Given the description of an element on the screen output the (x, y) to click on. 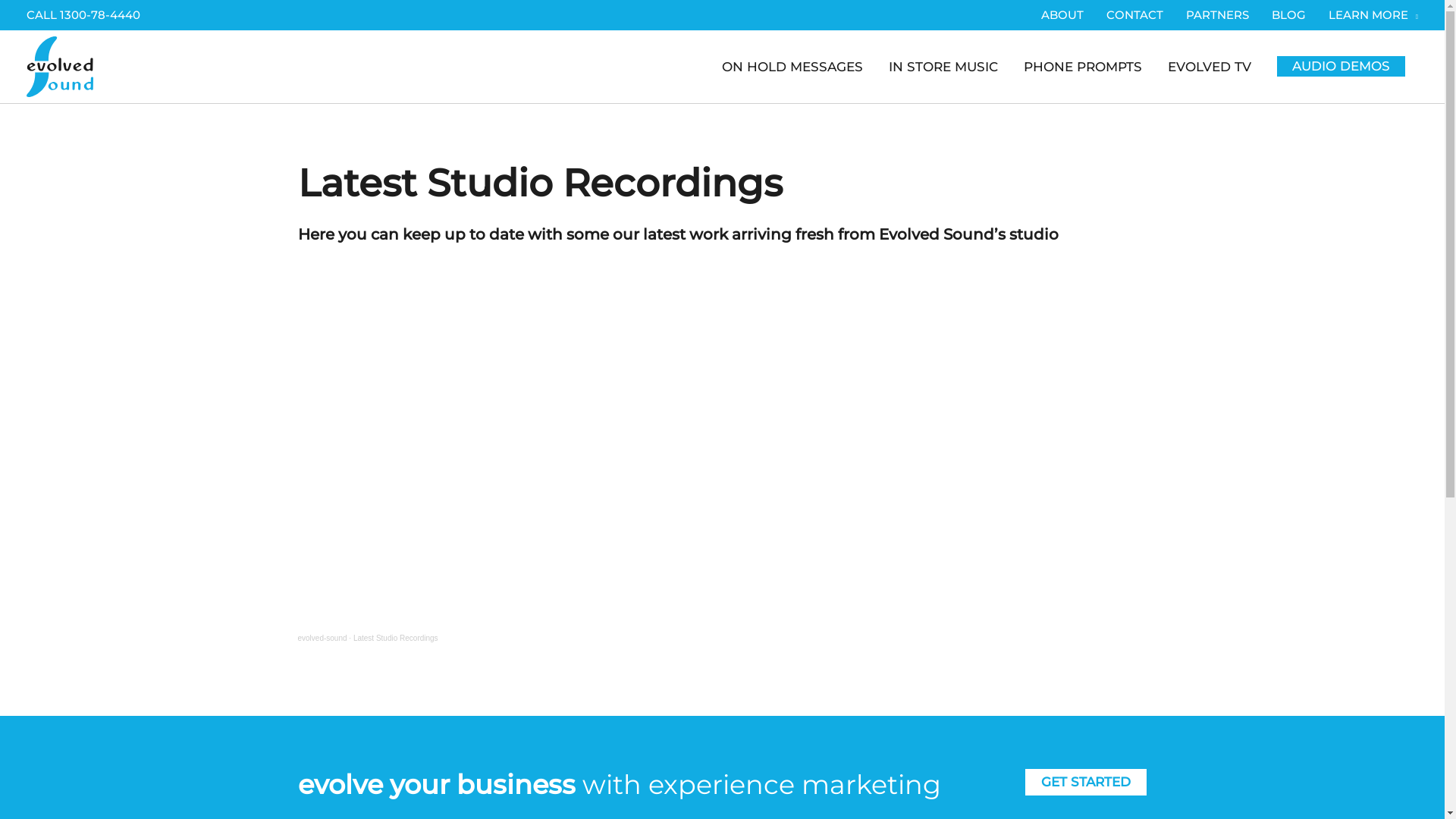
AUDIO DEMOS Element type: text (1341, 66)
1300-78-4440 Element type: text (99, 14)
PARTNERS Element type: text (1217, 15)
ABOUT Element type: text (1062, 15)
EVOLVED TV Element type: text (1209, 66)
Latest Studio Recordings Element type: text (395, 637)
IN STORE MUSIC Element type: text (942, 66)
BLOG Element type: text (1288, 15)
LEARN MORE Element type: text (1367, 15)
evolved-sound Element type: text (321, 637)
ON HOLD MESSAGES Element type: text (792, 66)
GET STARTED Element type: text (1085, 781)
PHONE PROMPTS Element type: text (1082, 66)
CONTACT Element type: text (1134, 15)
